Given the description of an element on the screen output the (x, y) to click on. 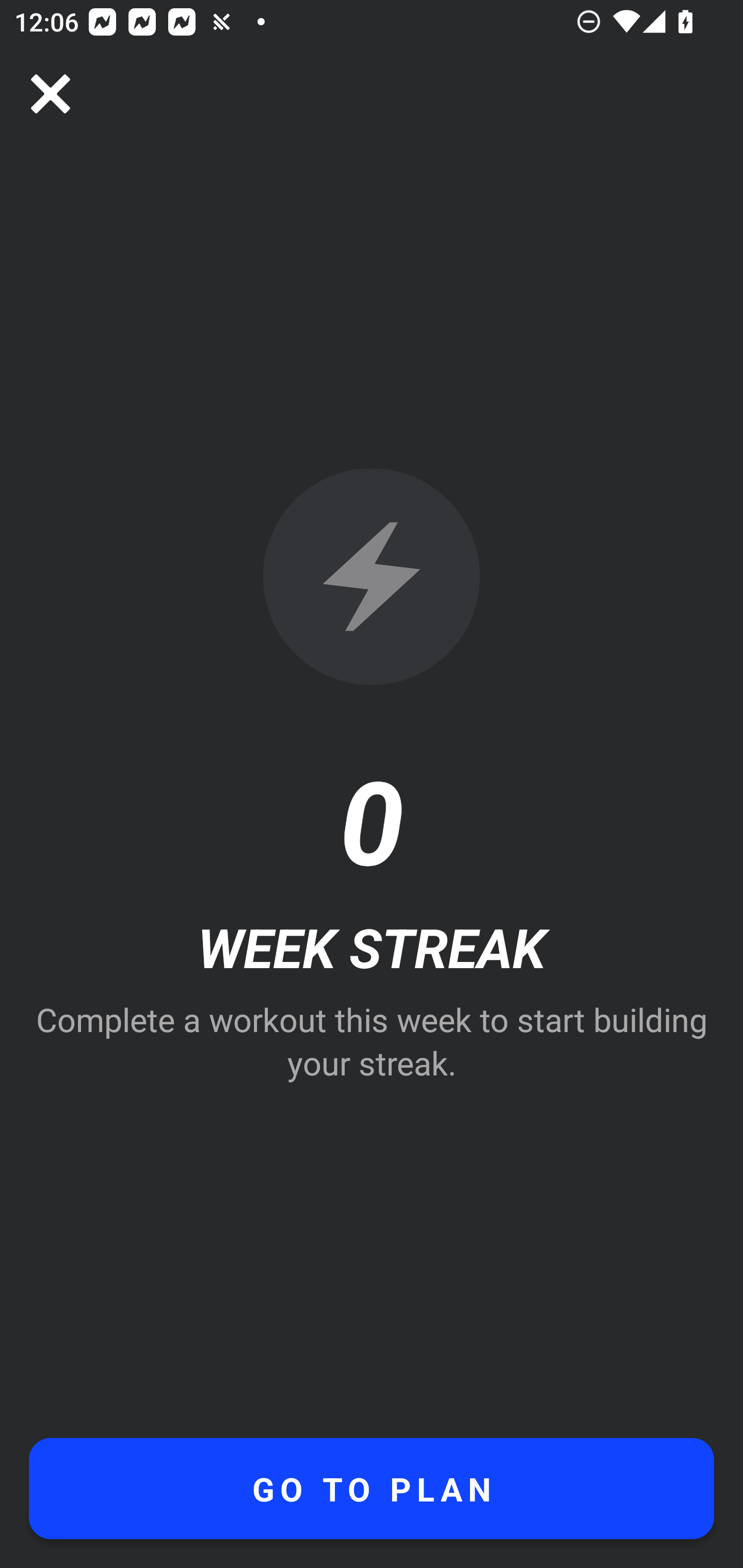
Close screen (50, 93)
GO TO PLAN (371, 1488)
